Given the description of an element on the screen output the (x, y) to click on. 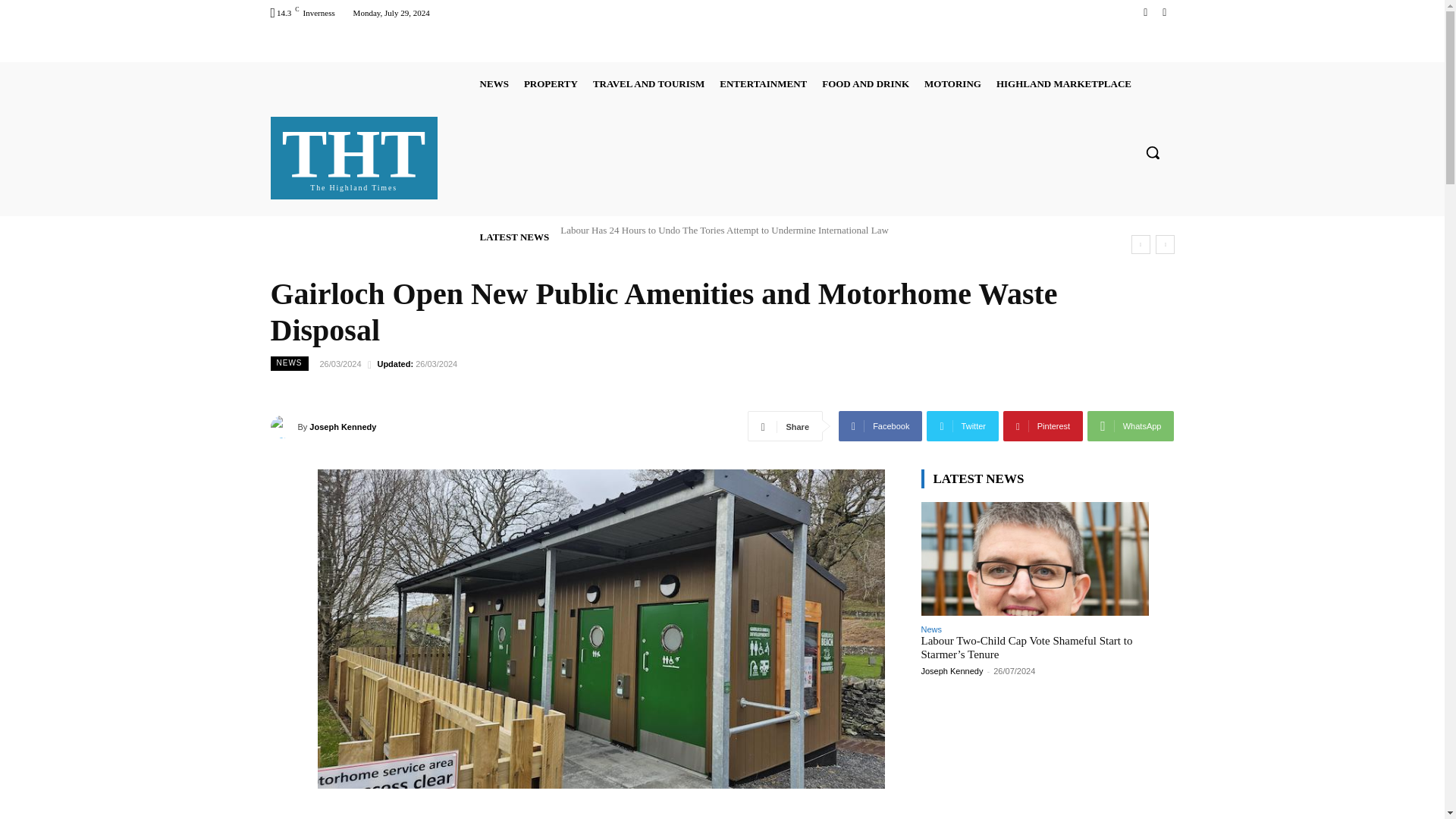
FOOD AND DRINK (865, 83)
Twitter (1163, 12)
ENTERTAINMENT (762, 83)
MOTORING (952, 83)
HIGHLAND MARKETPLACE (1063, 83)
PROPERTY (354, 155)
NEWS (550, 83)
Facebook (494, 83)
TRAVEL AND TOURISM (1144, 12)
